Given the description of an element on the screen output the (x, y) to click on. 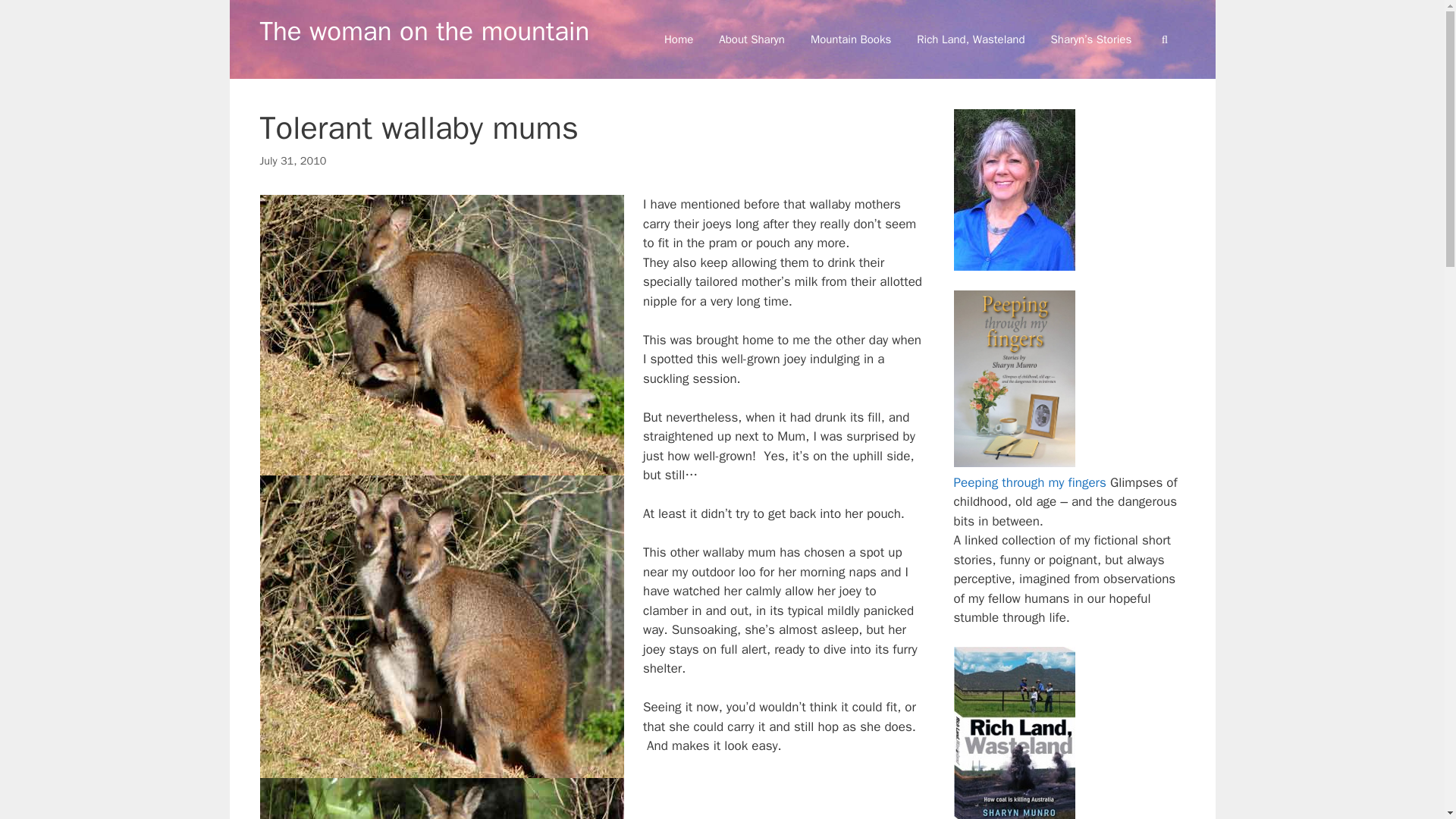
The woman on the mountain (424, 30)
wallaby-mum-3 (441, 798)
wallaby-mum-1 (441, 334)
Peeping through my fingers (1029, 482)
About Sharyn (751, 39)
Mountain Books (850, 39)
Home (678, 39)
Rich Land, Wasteland (970, 39)
wallaby-mum-2 (441, 626)
